Given the description of an element on the screen output the (x, y) to click on. 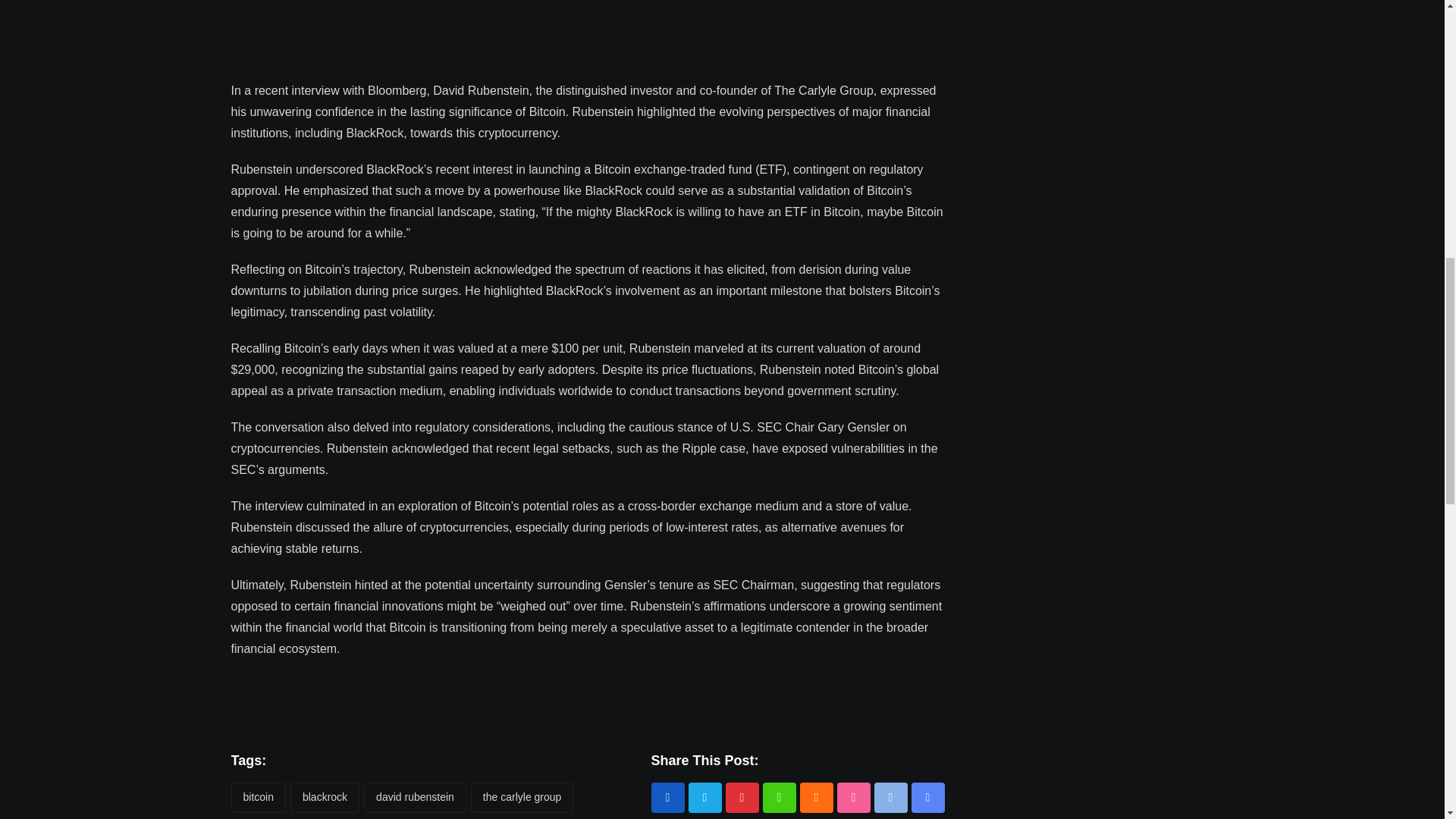
the carlyle group (521, 797)
blackrock (324, 797)
bitcoin (257, 797)
david rubenstein (414, 797)
